Given the description of an element on the screen output the (x, y) to click on. 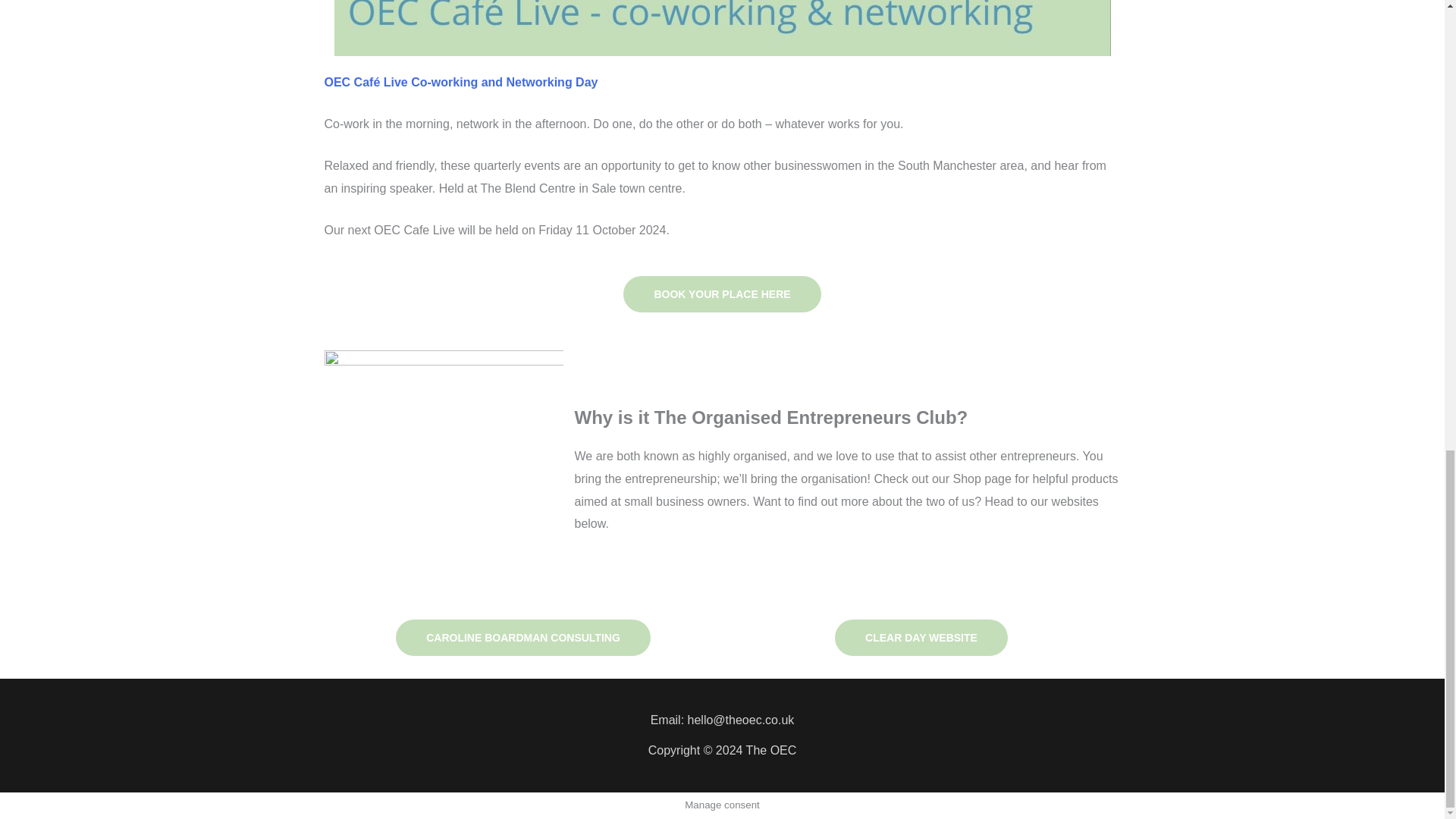
CAROLINE BOARDMAN CONSULTING (523, 637)
BOOK YOUR PLACE HERE (722, 294)
Why is it The Organised Entrepreneurs Club? (771, 417)
CLEAR DAY WEBSITE (920, 637)
